Given the description of an element on the screen output the (x, y) to click on. 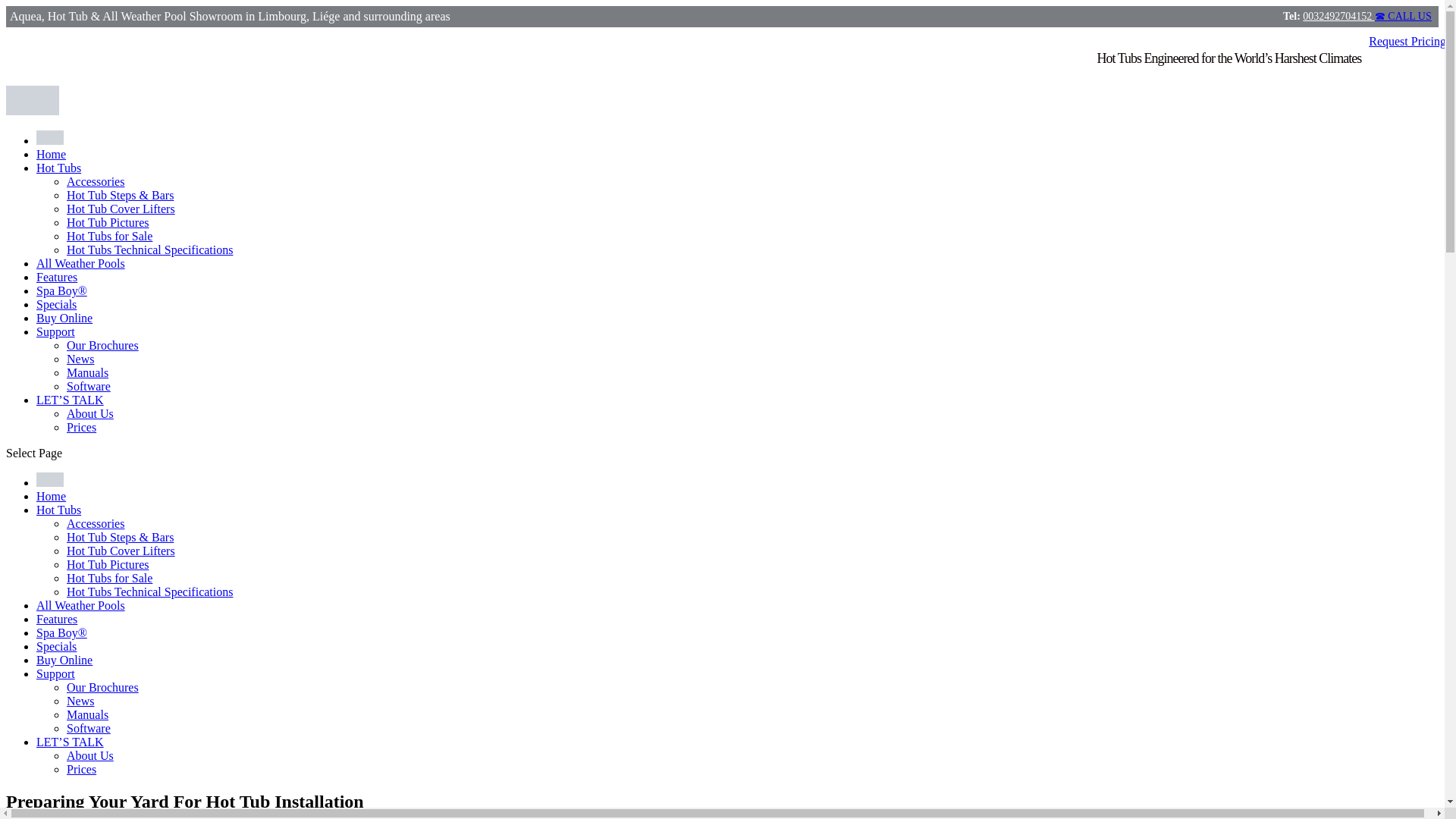
Request Pricing (1406, 41)
Manuals (86, 372)
Hot Tub Cover Lifters (120, 550)
Buy Online (64, 318)
Return to the home page (50, 154)
Hot Tubs Technical Specifications (149, 249)
Prices (81, 427)
Accessories (94, 522)
Home (50, 495)
Specials (56, 645)
Choose Your Location (50, 140)
Hot Tubs (58, 167)
Our Brochures (102, 345)
Choose Your Location (50, 137)
0032492704152 (1338, 16)
